Given the description of an element on the screen output the (x, y) to click on. 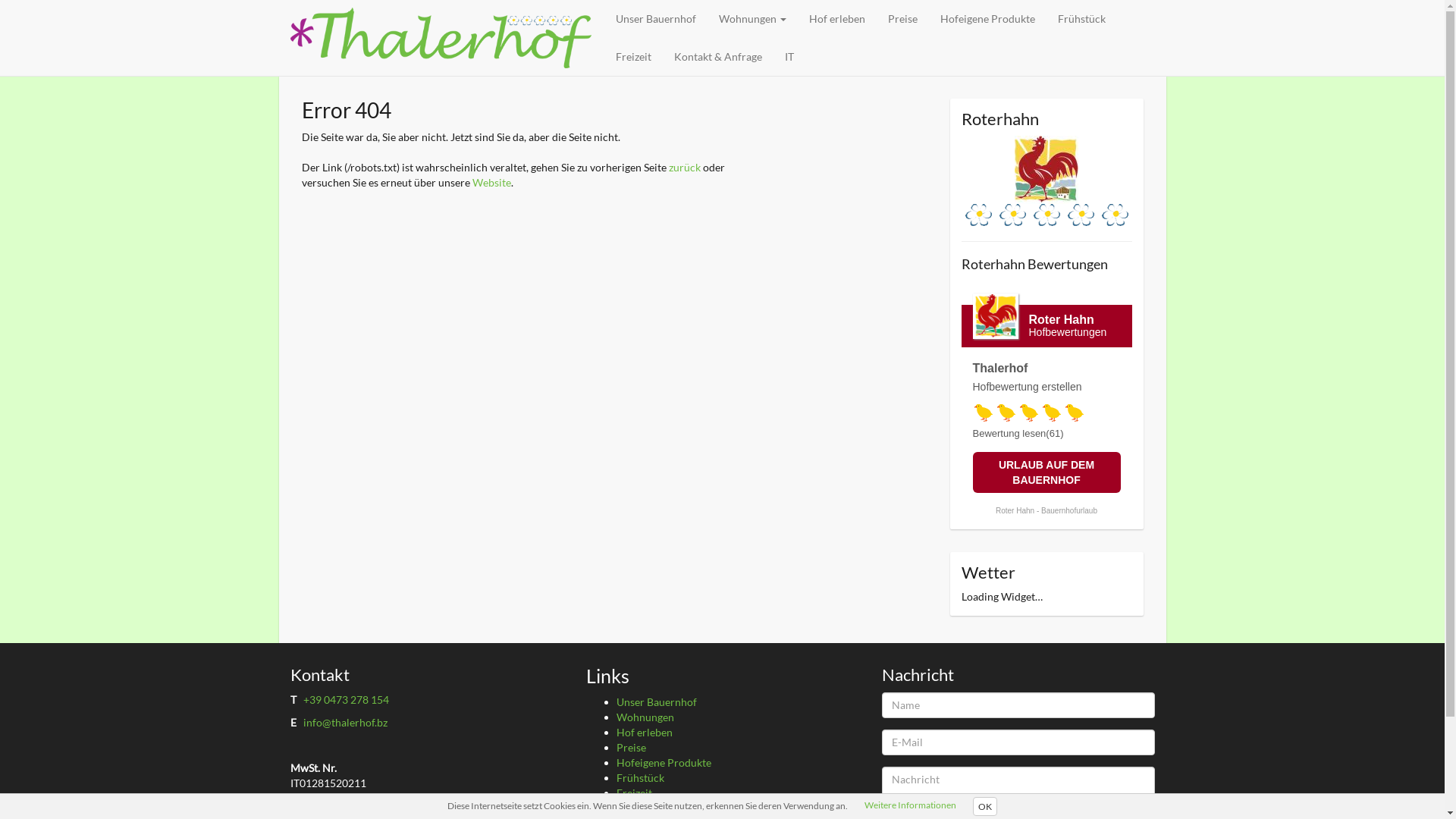
Freizeit Element type: text (632, 56)
Kontakt & Anfrage Element type: text (717, 56)
Unser Bauernhof Element type: text (655, 701)
Hofeigene Produkte Element type: text (986, 18)
Wohnungen Element type: text (751, 18)
Kontakt & Anfrage Element type: text (659, 807)
info@thalerhof.bz Element type: text (345, 721)
Preise Element type: text (902, 18)
Freizeit Element type: text (633, 792)
Hof erleben Element type: text (836, 18)
Hof erleben Element type: text (643, 731)
Preise Element type: text (630, 746)
Thalerhof Element type: text (999, 367)
Roter Hahn - Bauernhofurlaub Element type: text (1046, 510)
Bewertung lesen(61) Element type: text (1017, 433)
+39 0473 278 154 Element type: text (346, 699)
Wohnungen Element type: text (644, 716)
Weitere Informationen Element type: text (910, 804)
OK Element type: text (984, 806)
Unser Bauernhof Element type: text (654, 18)
Hofeigene Produkte Element type: text (662, 762)
URLAUB AUF DEM BAUERNHOF Element type: text (1046, 471)
Website Element type: text (490, 181)
IT Element type: text (789, 56)
Thalerhof Element type: hover (439, 37)
